Given the description of an element on the screen output the (x, y) to click on. 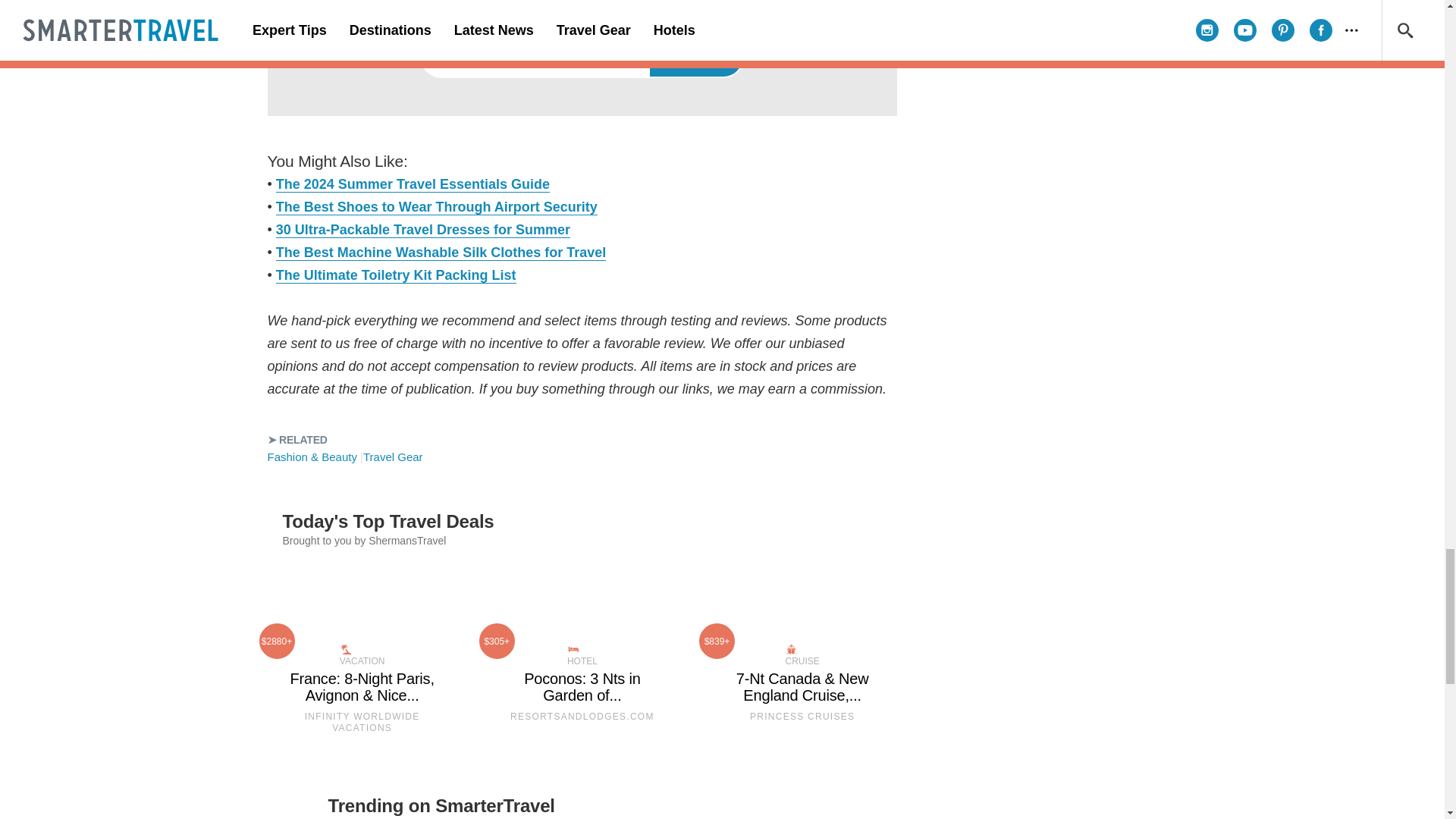
The Best Shoes to Wear Through Airport Security (436, 206)
The Best Machine Washable Silk Clothes for Travel (440, 252)
The Ultimate Toiletry Kit Packing List (396, 274)
30 Ultra-Packable Travel Dresses for Summer (423, 229)
The 2024 Summer Travel Essentials Guide (413, 183)
